Given the description of an element on the screen output the (x, y) to click on. 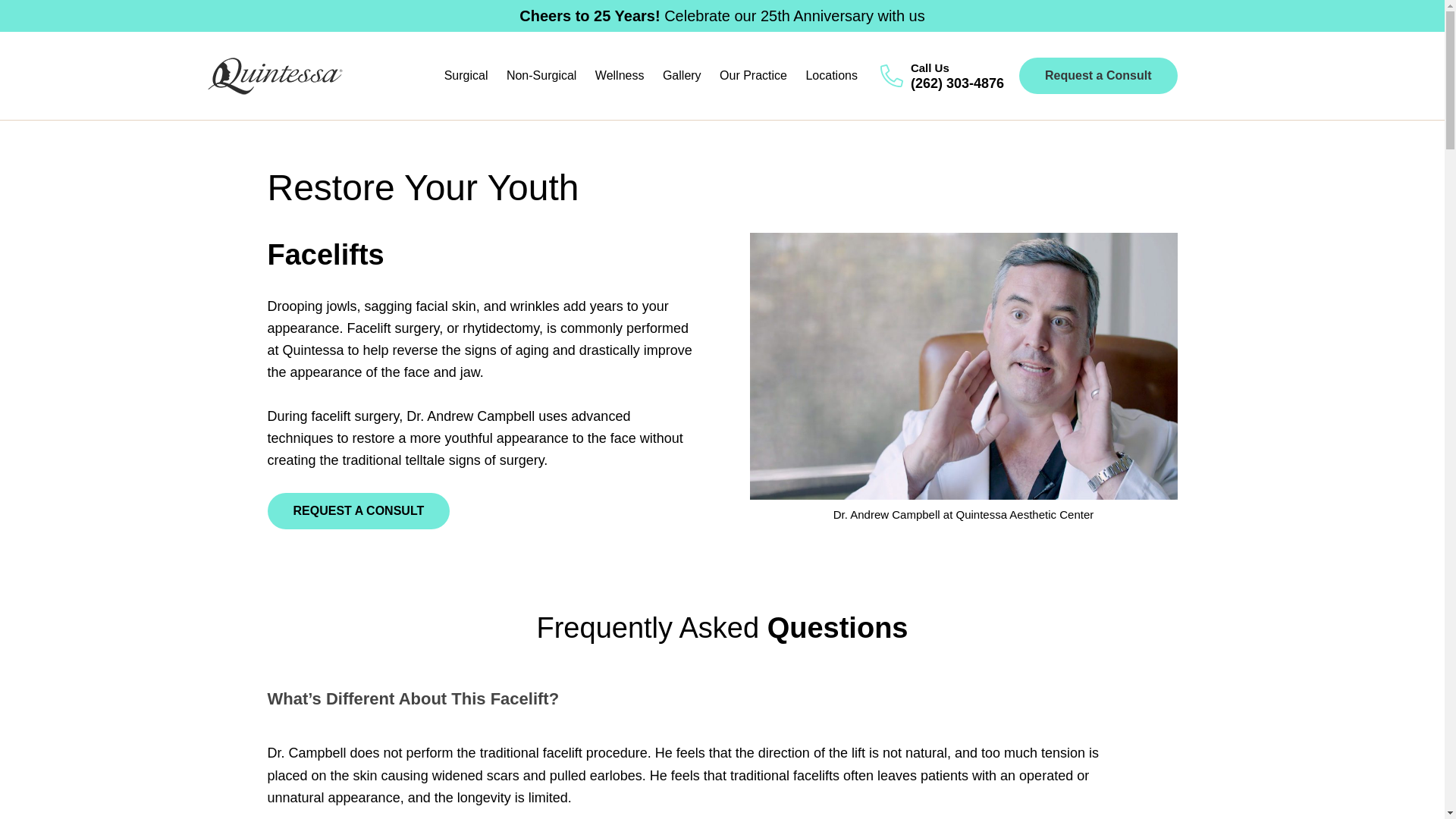
Cheers to 25 Years! Celebrate our 25th Anniversary with us (722, 15)
